Given the description of an element on the screen output the (x, y) to click on. 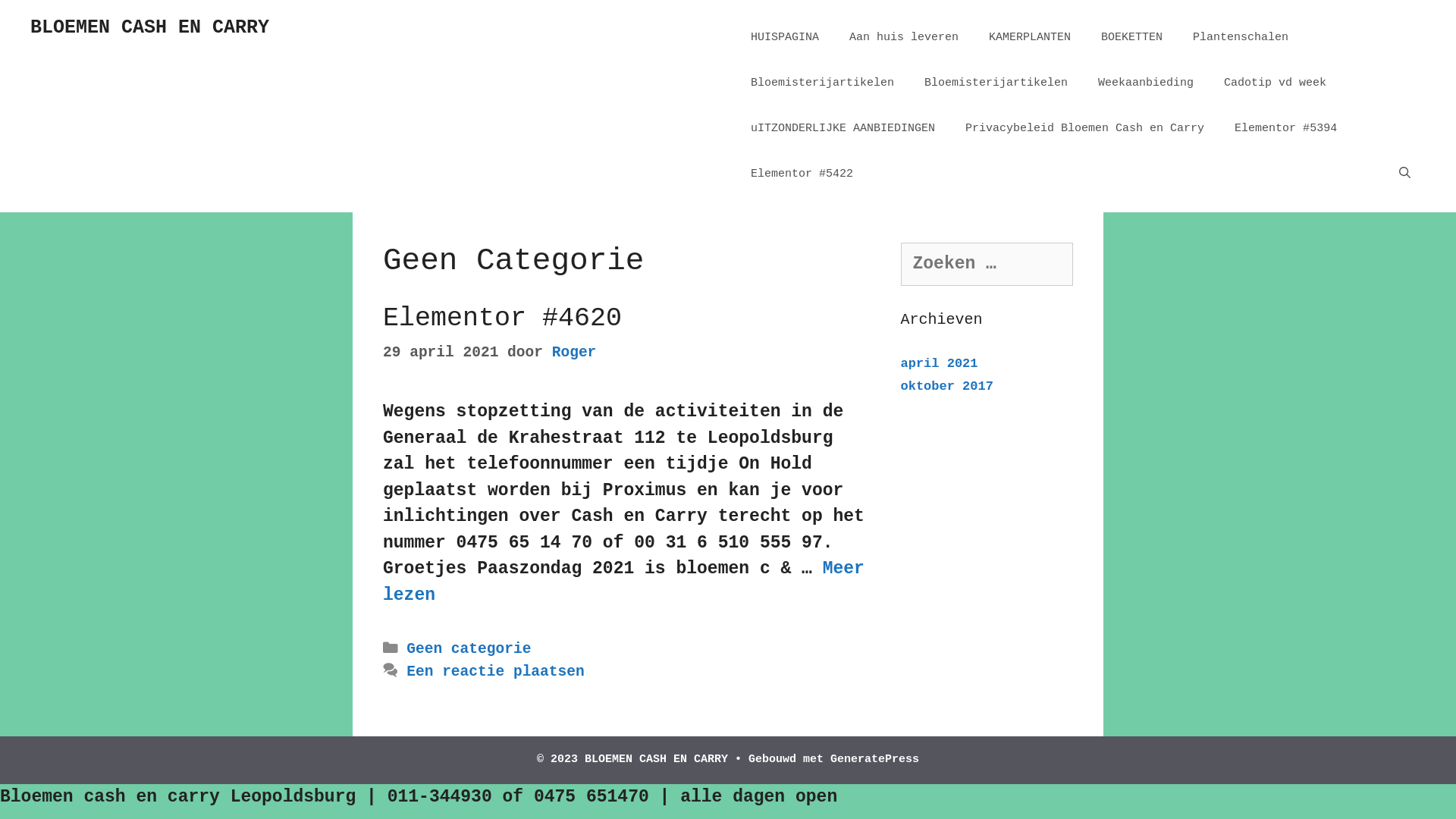
Bloemisterijartikelen Element type: text (822, 83)
Plantenschalen Element type: text (1240, 37)
Cadotip vd week Element type: text (1274, 83)
Elementor #5422 Element type: text (801, 174)
BLOEMEN CASH EN CARRY Element type: text (149, 27)
KAMERPLANTEN Element type: text (1029, 37)
Privacybeleid Bloemen Cash en Carry Element type: text (1084, 128)
Roger Element type: text (574, 352)
GeneratePress Element type: text (874, 759)
april 2021 Element type: text (939, 363)
Een reactie plaatsen Element type: text (494, 671)
Zoeken Element type: text (47, 21)
Geen categorie Element type: text (468, 648)
Bloemisterijartikelen Element type: text (995, 83)
Weekaanbieding Element type: text (1145, 83)
uITZONDERLIJKE AANBIEDINGEN Element type: text (842, 128)
Aan huis leveren Element type: text (903, 37)
Zoek naar: Element type: hover (986, 263)
Elementor #4620 Element type: text (501, 318)
oktober 2017 Element type: text (946, 386)
Meer lezen Element type: text (623, 581)
HUISPAGINA Element type: text (784, 37)
Elementor #5394 Element type: text (1285, 128)
BOEKETTEN Element type: text (1131, 37)
